Given the description of an element on the screen output the (x, y) to click on. 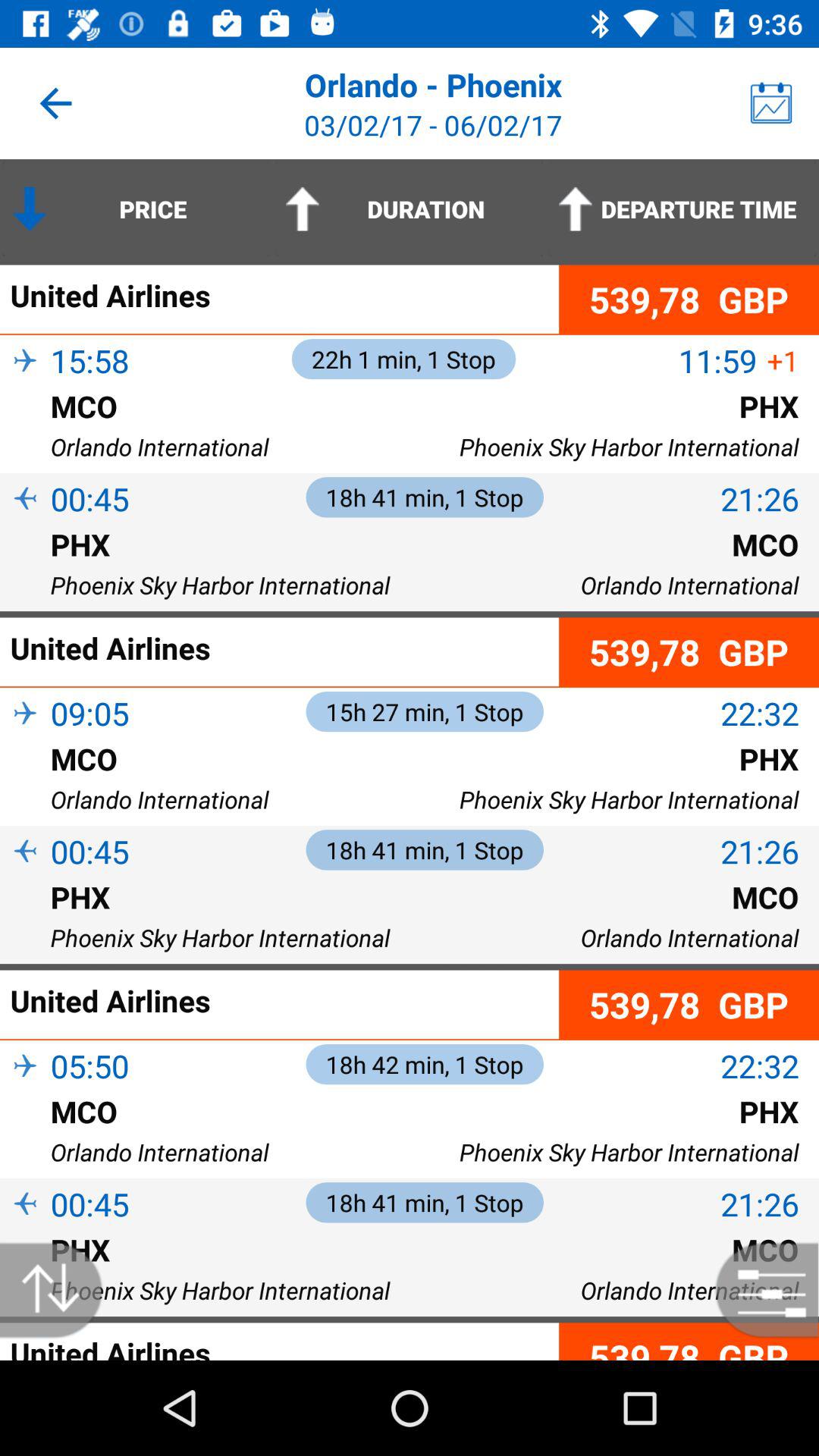
tap the icon next to mco item (25, 430)
